Given the description of an element on the screen output the (x, y) to click on. 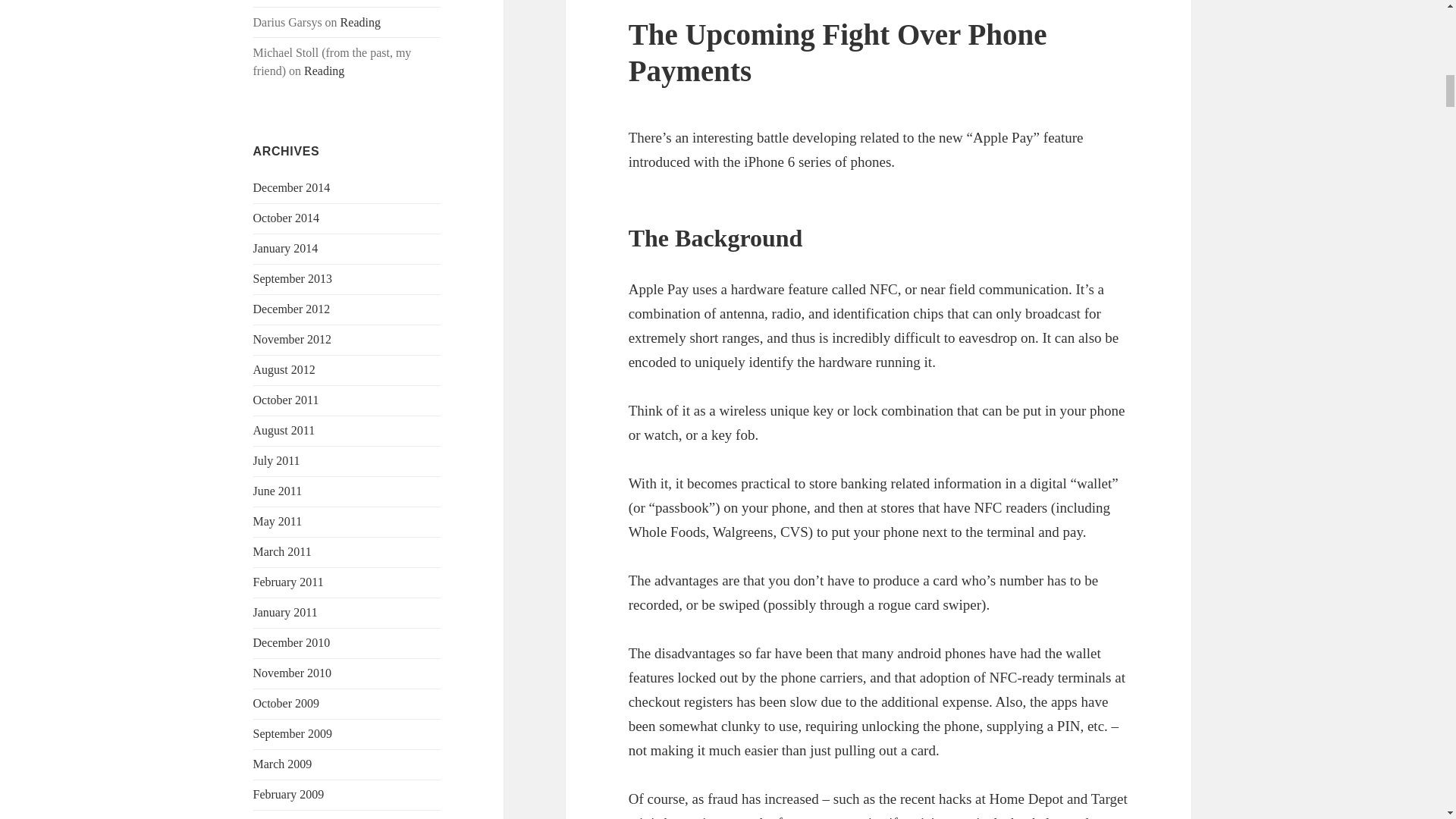
October 2014 (286, 217)
January 2014 (285, 247)
Reading (360, 21)
December 2014 (291, 187)
Reading (323, 70)
